Given the description of an element on the screen output the (x, y) to click on. 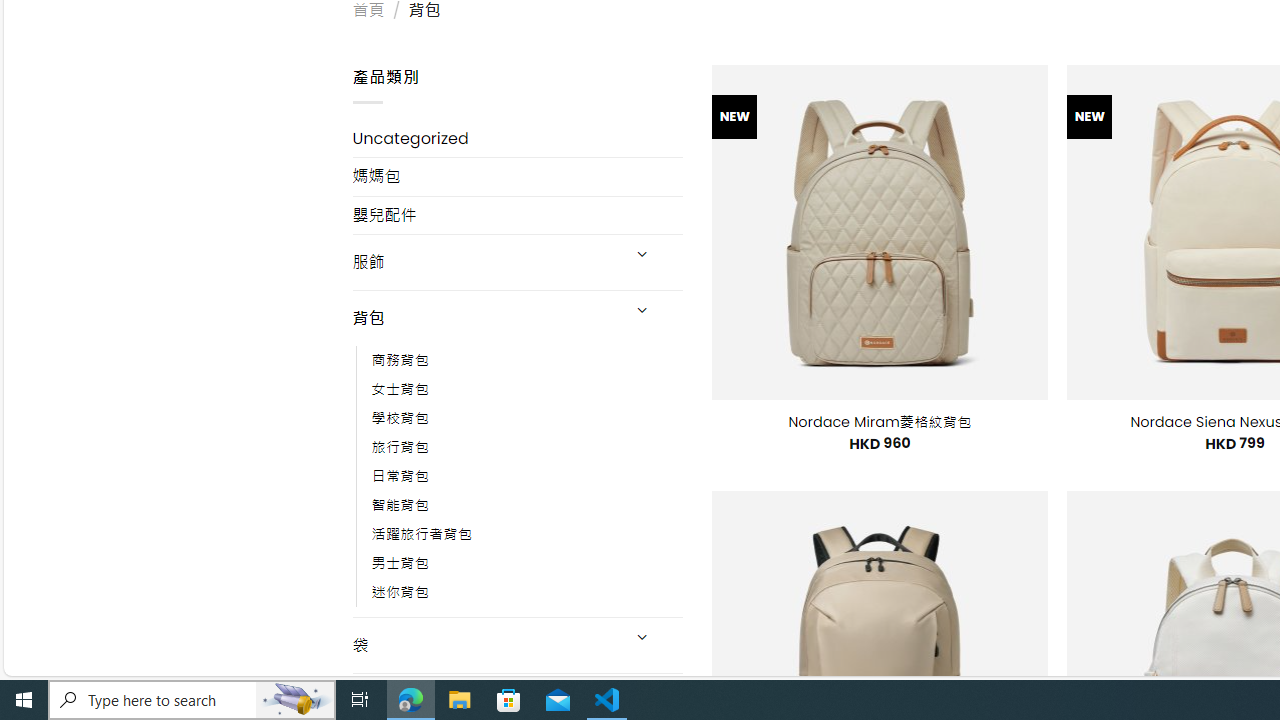
Uncategorized (517, 137)
